Given the description of an element on the screen output the (x, y) to click on. 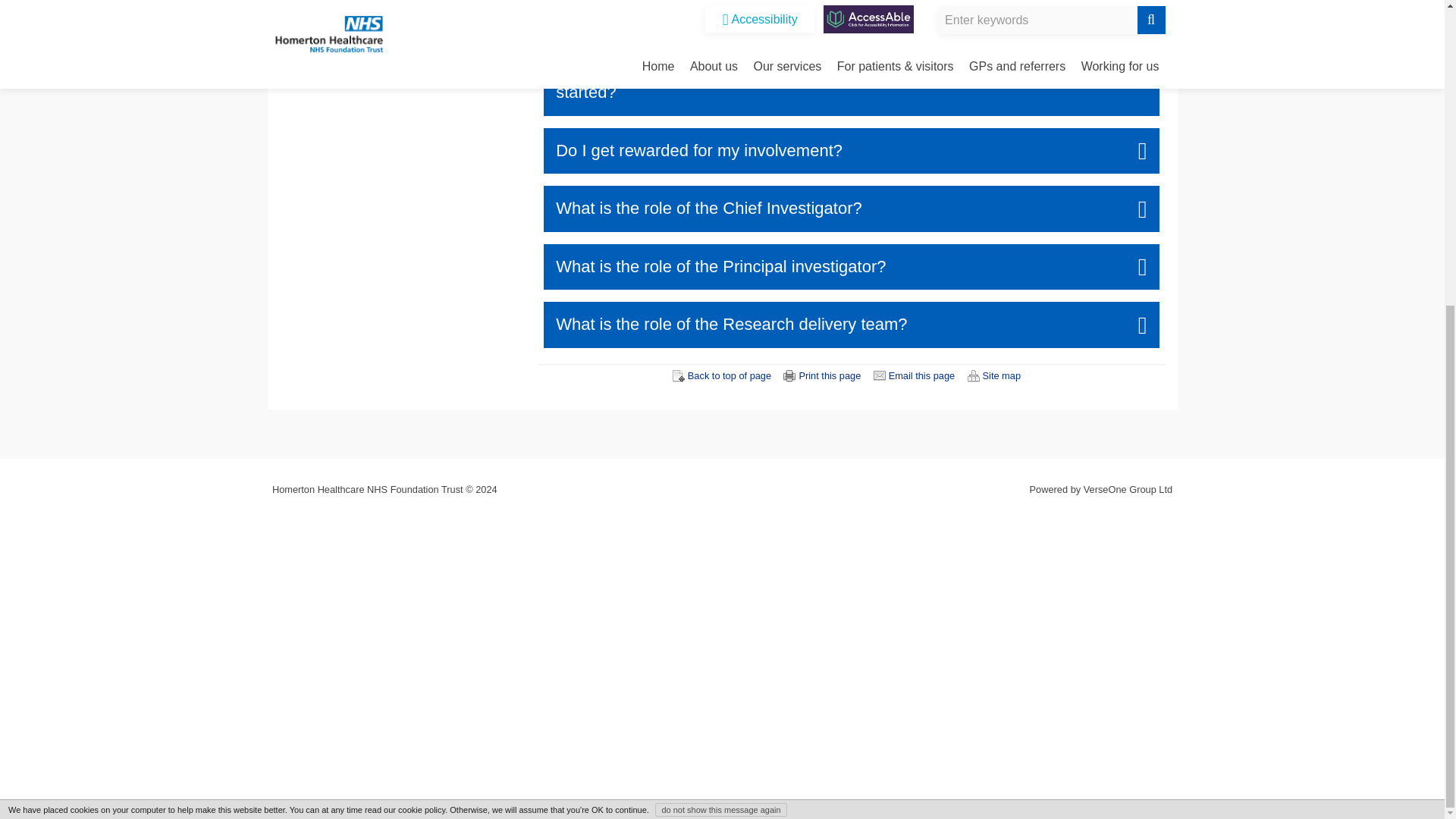
do not show this message again (720, 330)
